Given the description of an element on the screen output the (x, y) to click on. 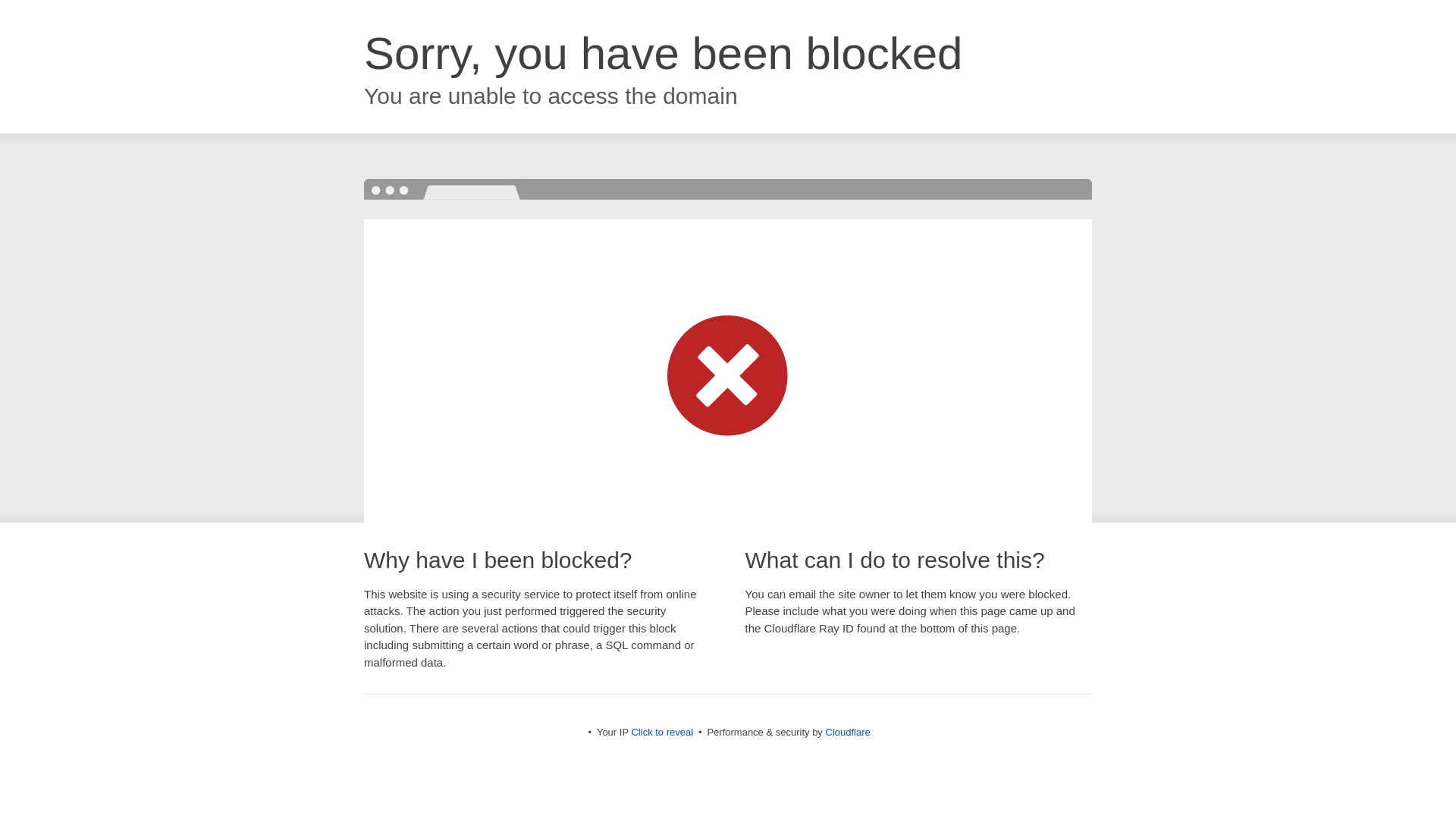
Click to reveal (661, 731)
Cloudflare (847, 731)
